Given the description of an element on the screen output the (x, y) to click on. 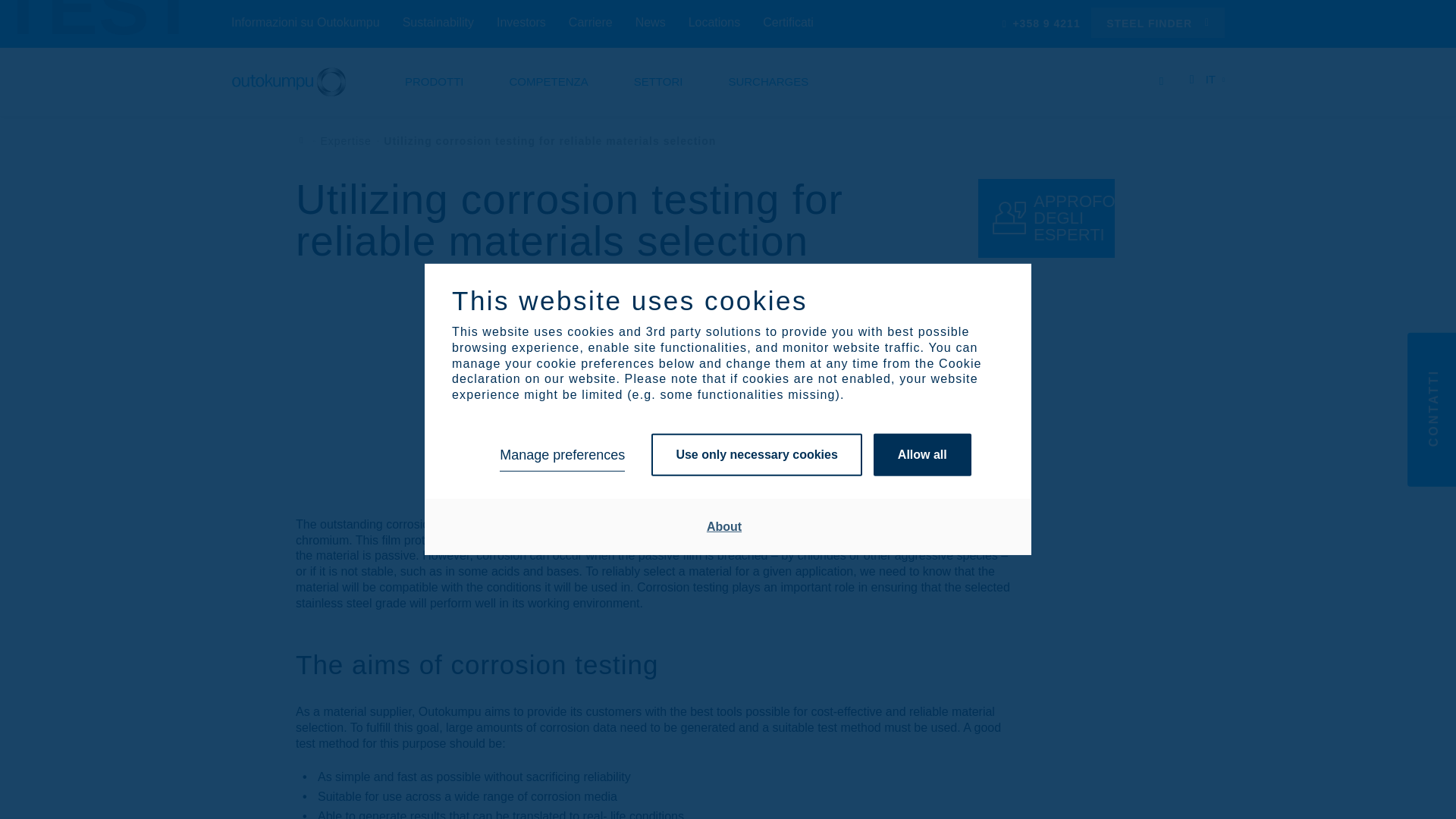
About (724, 526)
Allow all (922, 454)
Manage preferences (561, 454)
Use only necessary cookies (755, 454)
